Given the description of an element on the screen output the (x, y) to click on. 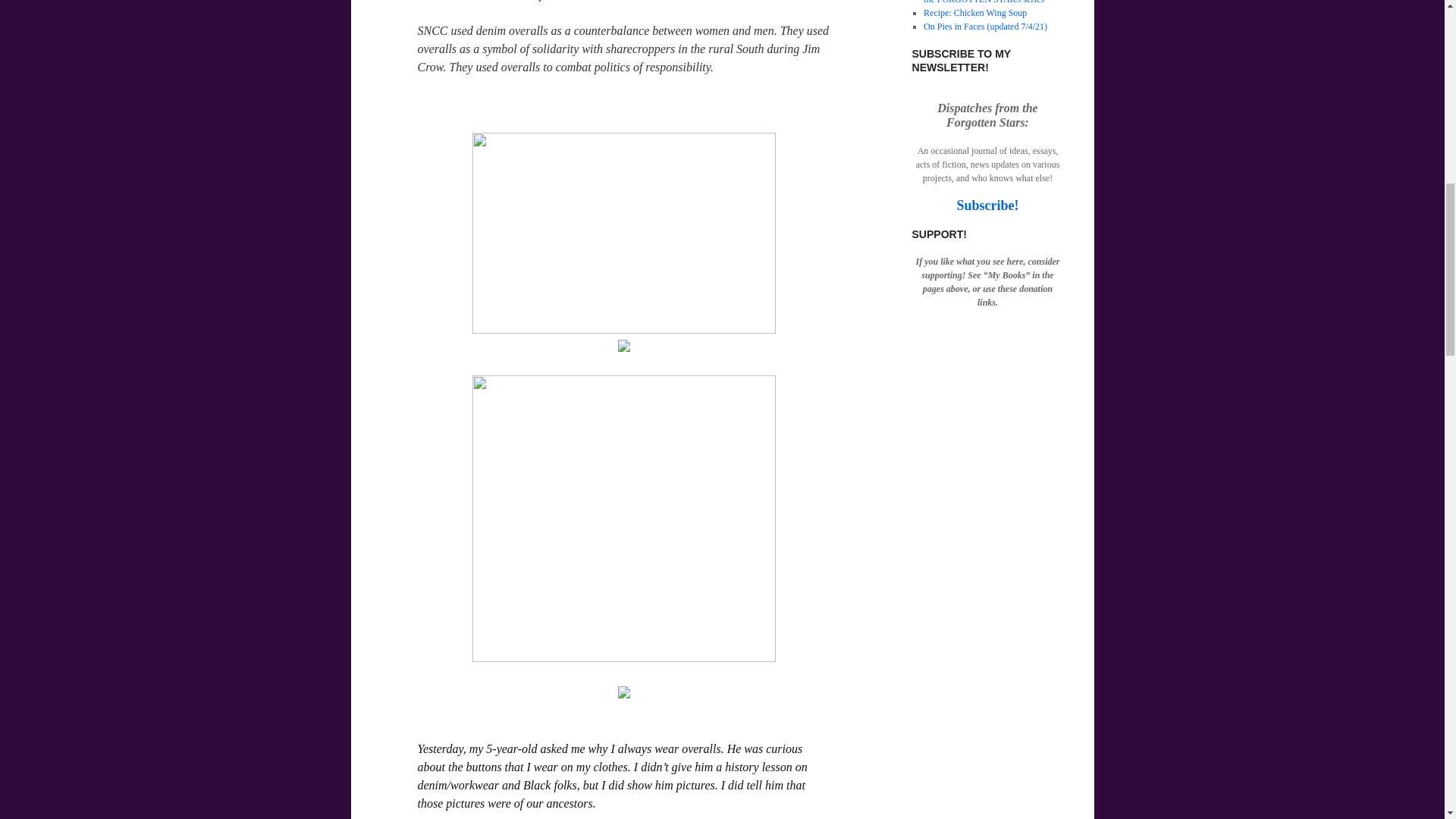
My Books: TITLES that are NOT in the FORGOTTEN STARS series (990, 2)
Recipe: Chicken Wing Soup (974, 12)
